Given the description of an element on the screen output the (x, y) to click on. 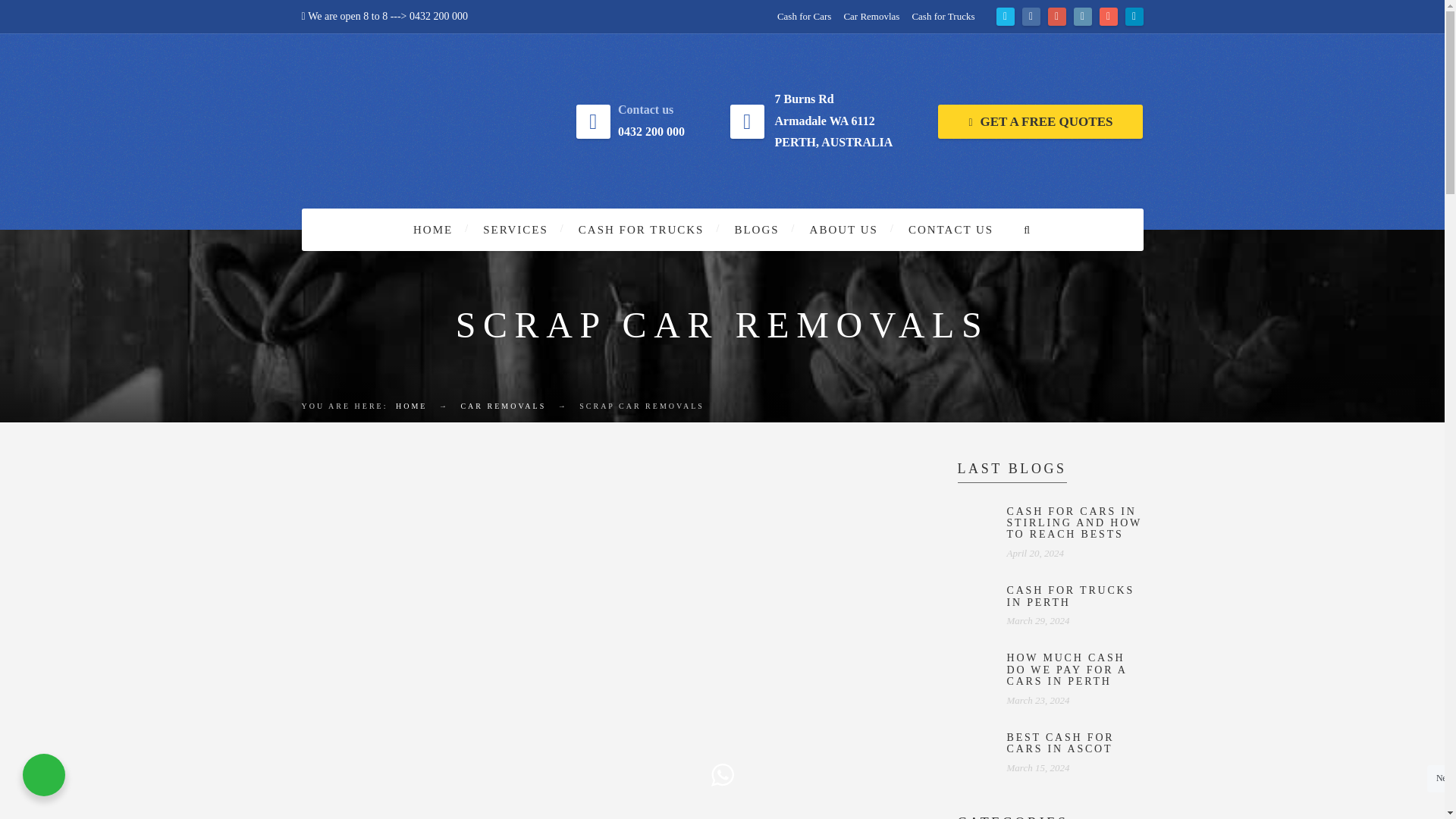
CASH FOR TRUCKS (641, 229)
HOME (411, 406)
car removals (503, 406)
ABOUT US (843, 229)
SERVICES (515, 229)
Cash for Cars (804, 16)
Search (44, 17)
BLOGS (756, 229)
CarXcrapper (411, 406)
GET A FREE QUOTES (1039, 121)
